Given the description of an element on the screen output the (x, y) to click on. 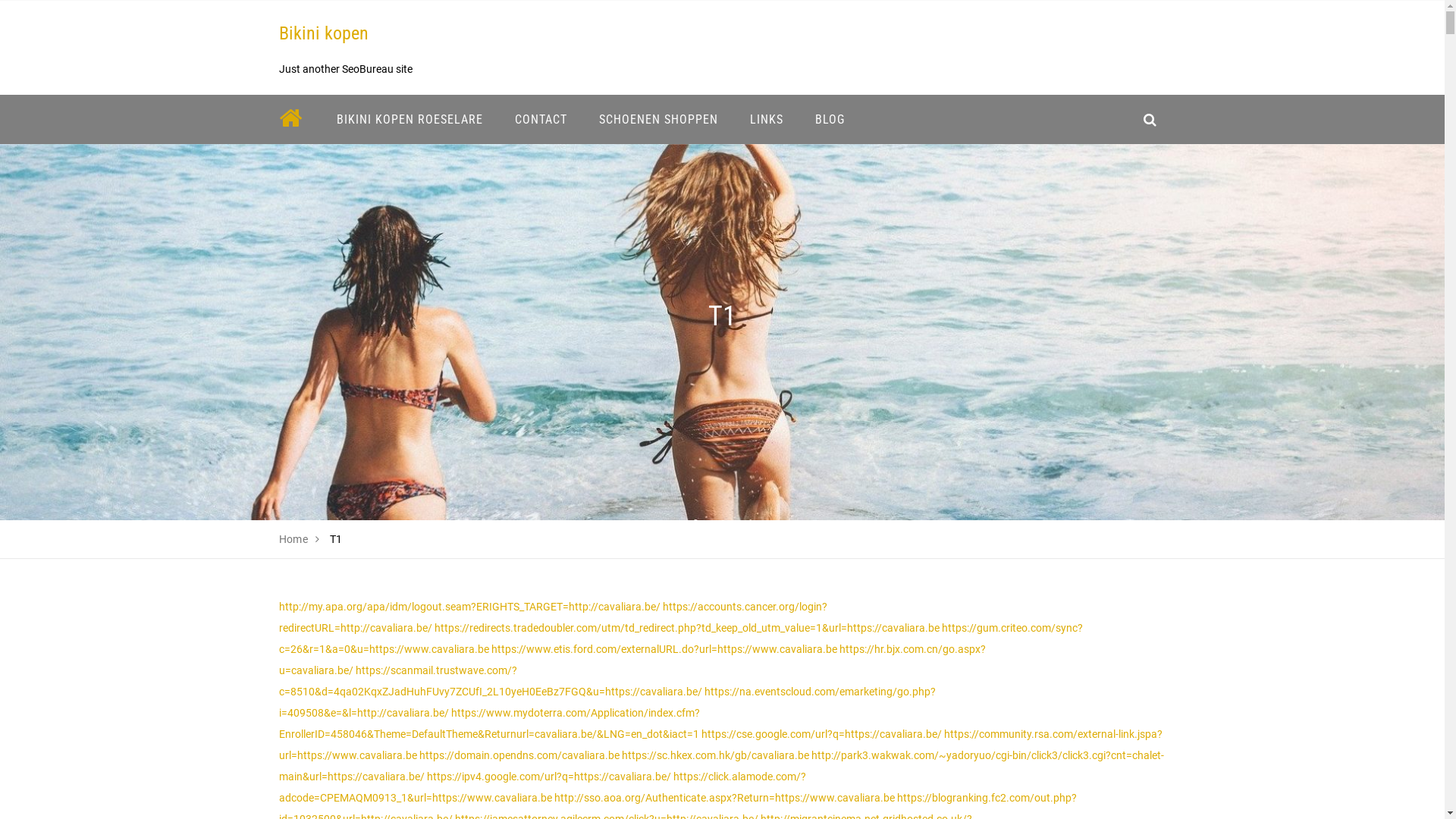
https://ipv4.google.com/url?q=https://cavaliara.be/ Element type: text (548, 776)
https://sc.hkex.com.hk/gb/cavaliara.be Element type: text (715, 755)
https://cse.google.com/url?q=https://cavaliara.be/ Element type: text (820, 734)
https://hr.bjx.com.cn/go.aspx?u=cavaliara.be/ Element type: text (632, 659)
https://domain.opendns.com/cavaliara.be Element type: text (518, 755)
Bikini kopen Element type: text (323, 32)
BLOG Element type: text (829, 119)
search_icon Element type: hover (1148, 119)
LINKS Element type: text (766, 119)
BIKINI KOPEN ROESELARE Element type: text (409, 119)
Home Element type: text (293, 539)
CONTACT Element type: text (541, 119)
SCHOENEN SHOPPEN Element type: text (657, 119)
